Given the description of an element on the screen output the (x, y) to click on. 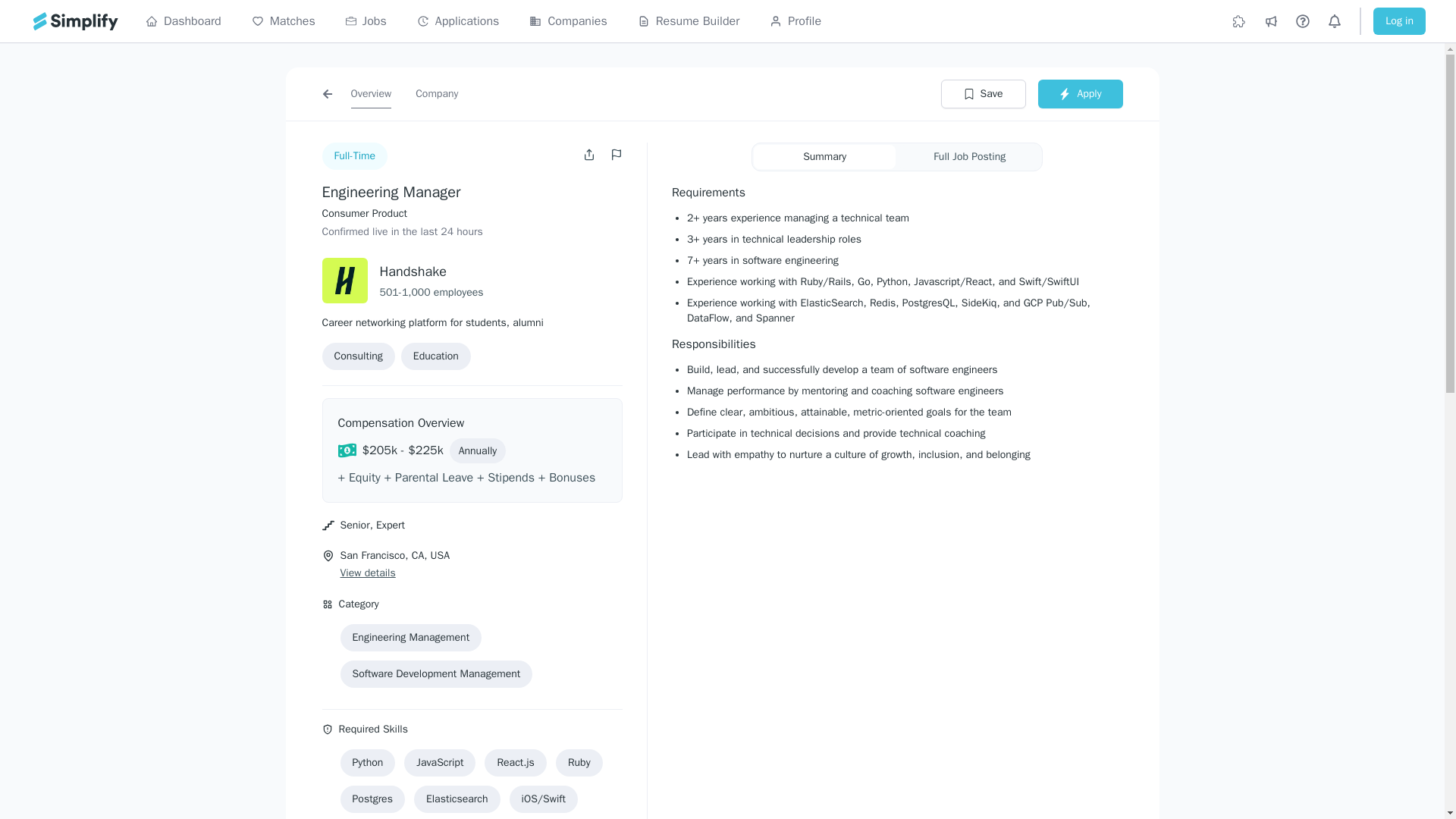
Full Job Posting (969, 156)
Company (436, 93)
Save (982, 93)
Dashboard (183, 21)
Apply (1079, 93)
Summary (824, 156)
View details (366, 572)
Companies (568, 21)
Applications (457, 21)
Matches (283, 21)
Jobs (366, 21)
Profile (795, 21)
Log in (1399, 21)
Resume Builder (688, 21)
Open user menu (590, 154)
